Given the description of an element on the screen output the (x, y) to click on. 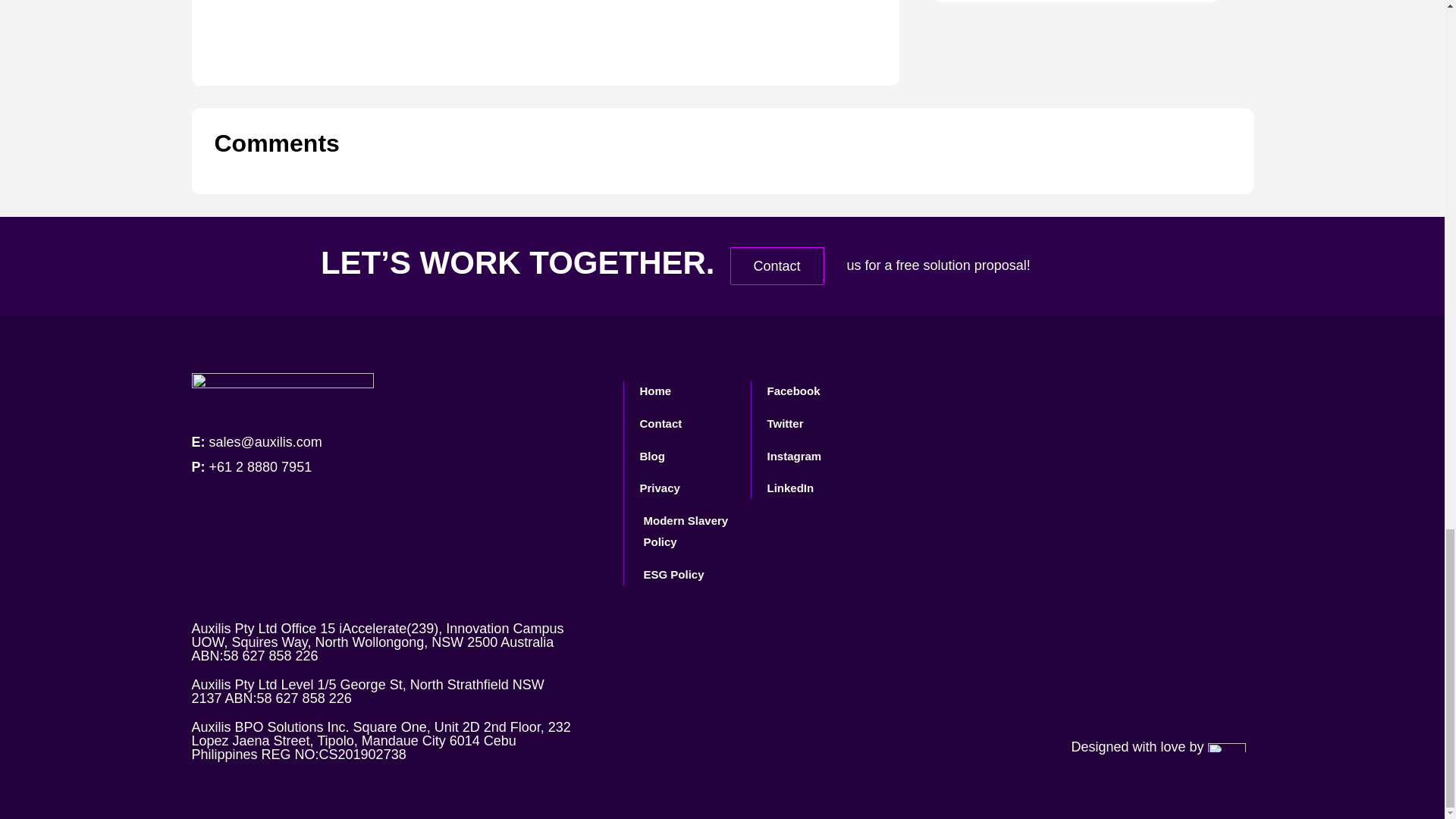
Privacy (687, 487)
Blog (687, 455)
Contact (687, 423)
Home (687, 391)
ESG Policy (687, 574)
us for a free solution proposal! (938, 265)
Contact (776, 266)
Modern Slavery Policy (687, 531)
